Given the description of an element on the screen output the (x, y) to click on. 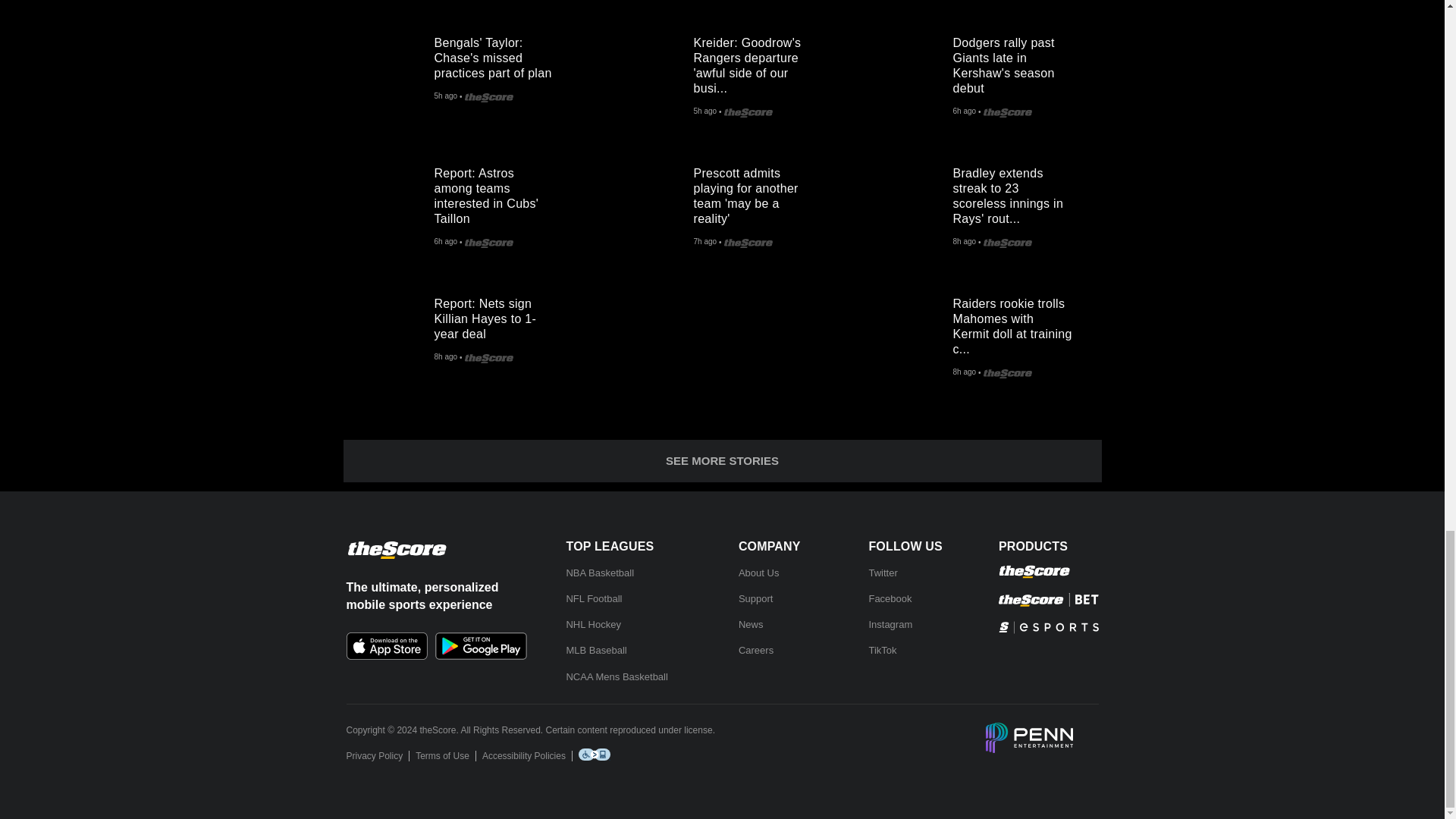
Bengals' Taylor: Chase's missed practices part of plan (500, 54)
Report: Nets sign Killian Hayes to 1-year deal (388, 331)
2024-07-25T22:47:35.000Z (704, 242)
2024-07-25T21:32:48.000Z (445, 357)
Dodgers rally past Giants late in Kershaw's season debut (1018, 61)
Bengals' Taylor: Chase's missed practices part of plan (388, 69)
Prescott admits playing for another team 'may be a reality' (759, 192)
SEE MORE STORIES (721, 460)
2024-07-25T23:31:47.000Z (445, 242)
Report: Nets sign Killian Hayes to 1-year deal (500, 315)
Report: Astros among teams interested in Cubs' Taillon (500, 192)
2024-07-26T00:29:34.000Z (445, 96)
2024-07-25T21:31:59.000Z (963, 372)
2024-07-26T00:29:12.000Z (704, 112)
